Given the description of an element on the screen output the (x, y) to click on. 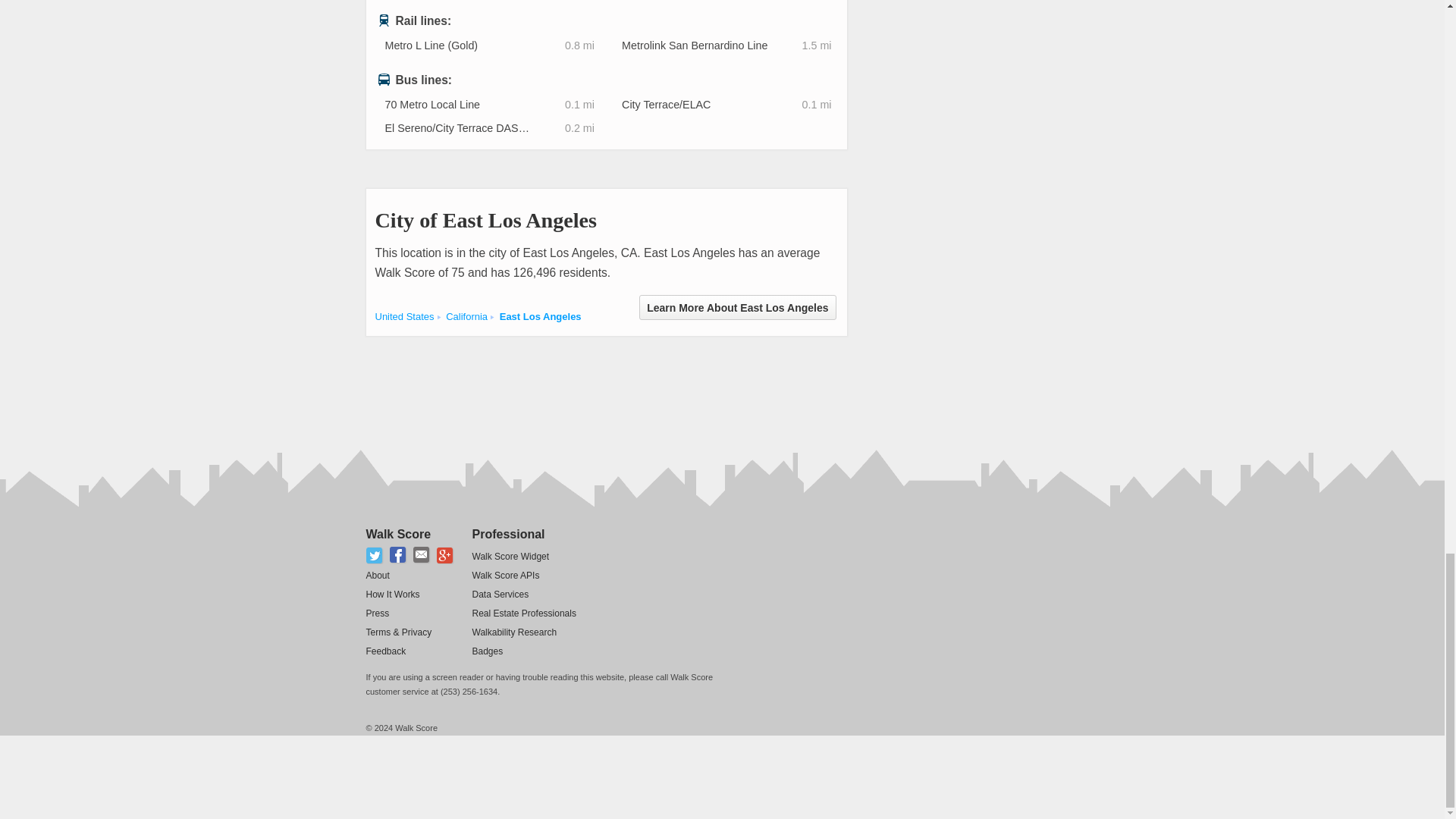
3rd party ad content (641, 385)
East Los Angeles (539, 316)
Cities in California state (466, 316)
United States Walkability Rankings (403, 316)
United States (403, 316)
Learn More About East Los Angeles (737, 307)
Walk Score (397, 533)
California (466, 316)
